Given the description of an element on the screen output the (x, y) to click on. 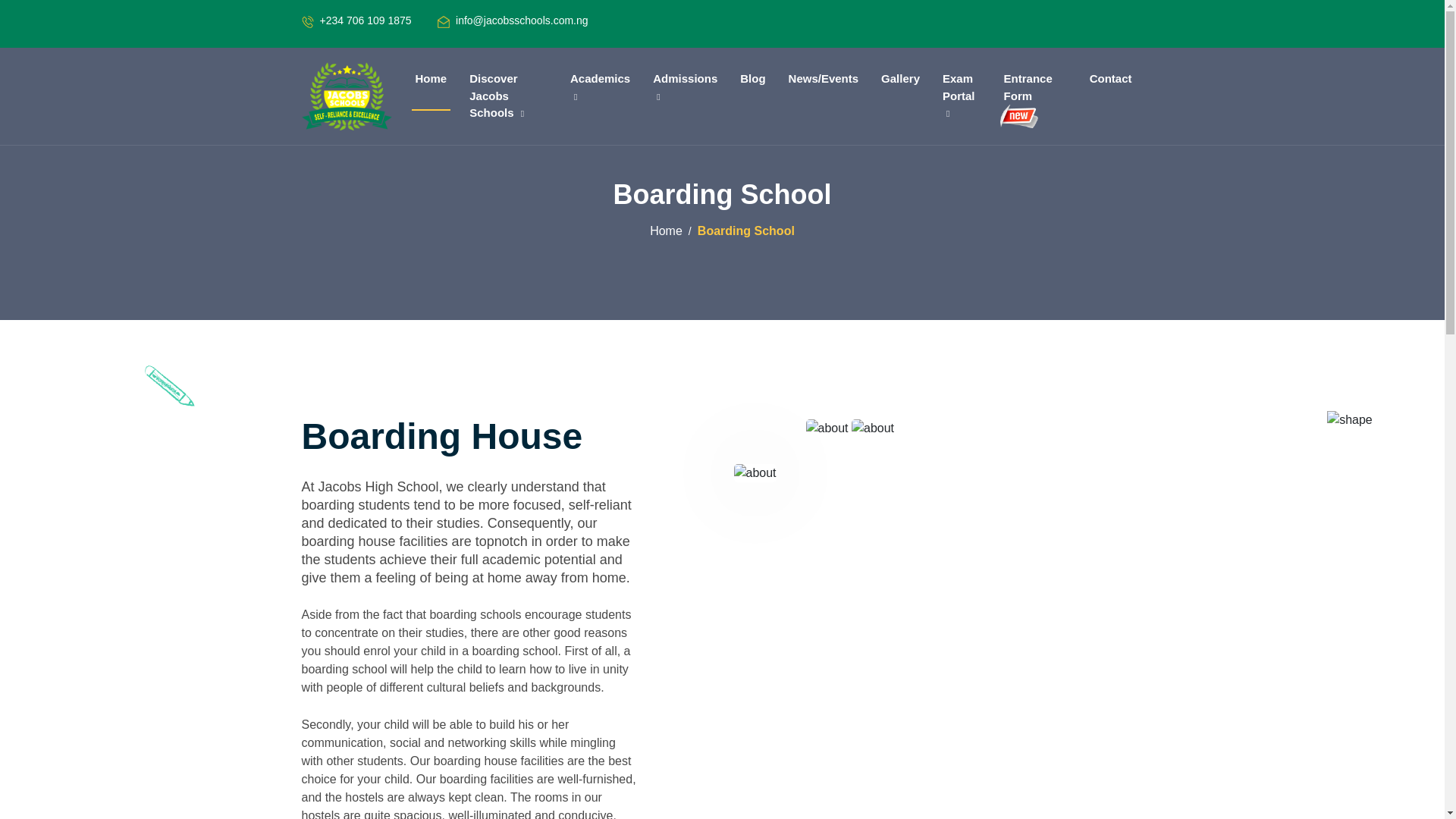
Home (665, 230)
Boarding School (745, 230)
Admissions (684, 87)
